Given the description of an element on the screen output the (x, y) to click on. 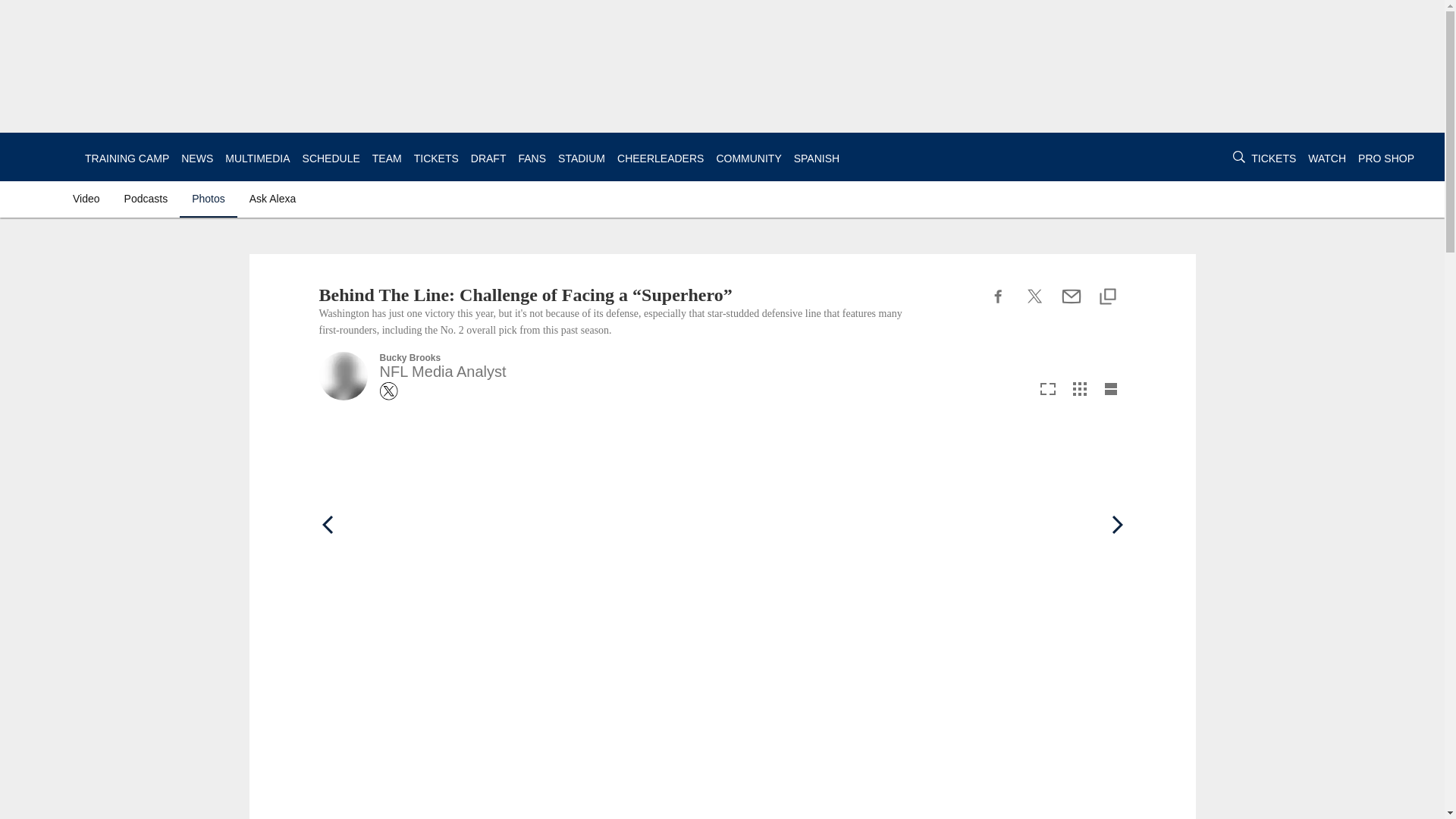
TICKETS (1272, 158)
TEAM (386, 158)
MULTIMEDIA (257, 158)
NEWS (196, 158)
FANS (532, 158)
PRO SHOP (1385, 158)
CHEERLEADERS (660, 158)
TRAINING CAMP (126, 158)
Bucky Brooks (409, 357)
CHEERLEADERS (660, 158)
Photos (208, 198)
Podcasts (145, 198)
WATCH (1326, 158)
Video (89, 198)
TICKETS (435, 158)
